Given the description of an element on the screen output the (x, y) to click on. 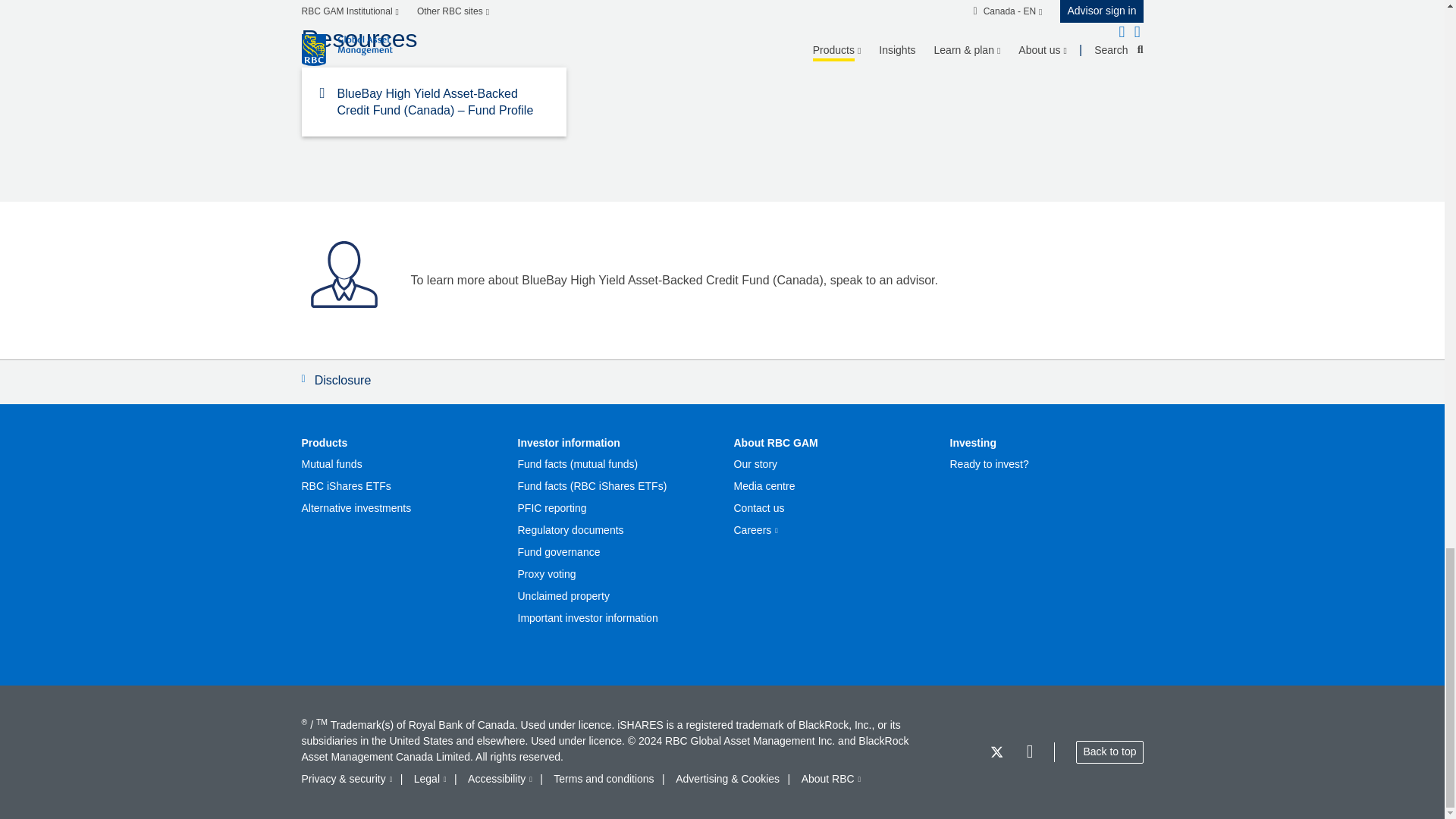
Alternative investments (356, 508)
Mutual funds (331, 463)
Our story (755, 463)
Disclosure (721, 382)
Important investor information (587, 617)
Regulatory documents (569, 530)
PFIC reporting (551, 508)
Terms and conditions (603, 779)
Careers (755, 530)
Accessibility (499, 779)
